Given the description of an element on the screen output the (x, y) to click on. 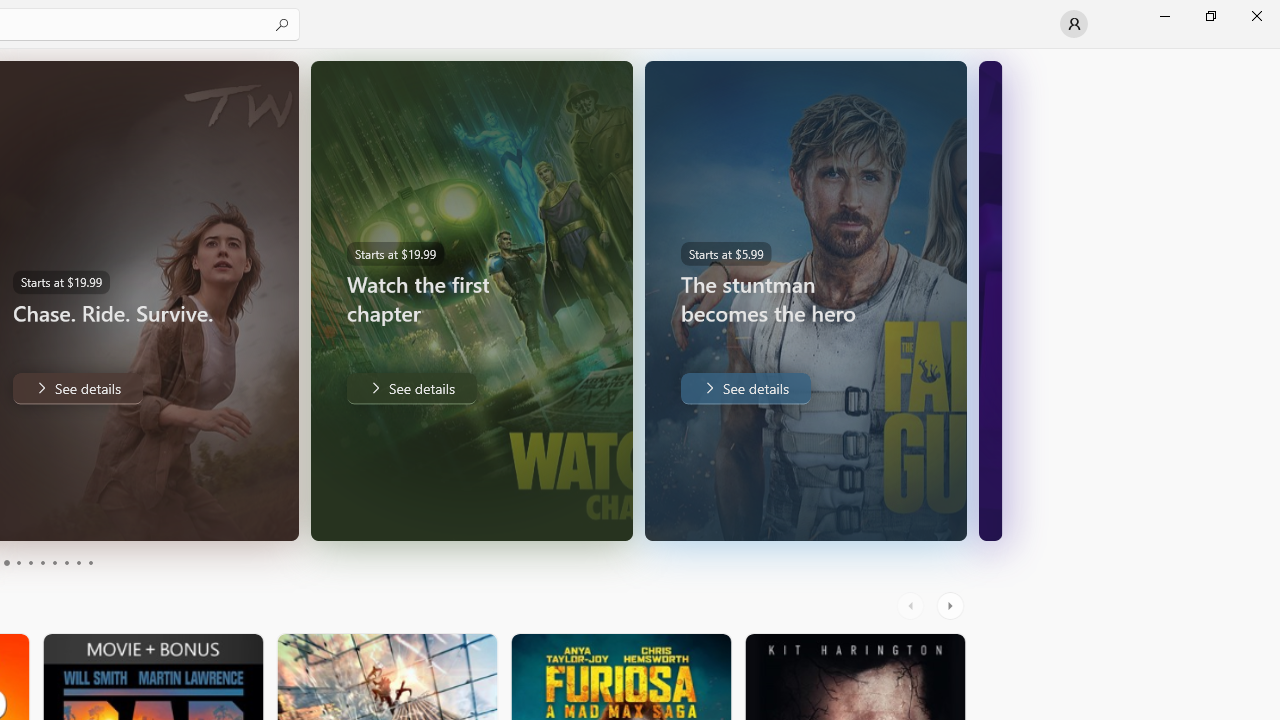
Page 5 (29, 562)
Page 6 (41, 562)
Page 9 (77, 562)
Page 10 (90, 562)
AutomationID: Image (989, 300)
Page 7 (54, 562)
Page 3 (5, 562)
Page 4 (17, 562)
